Given the description of an element on the screen output the (x, y) to click on. 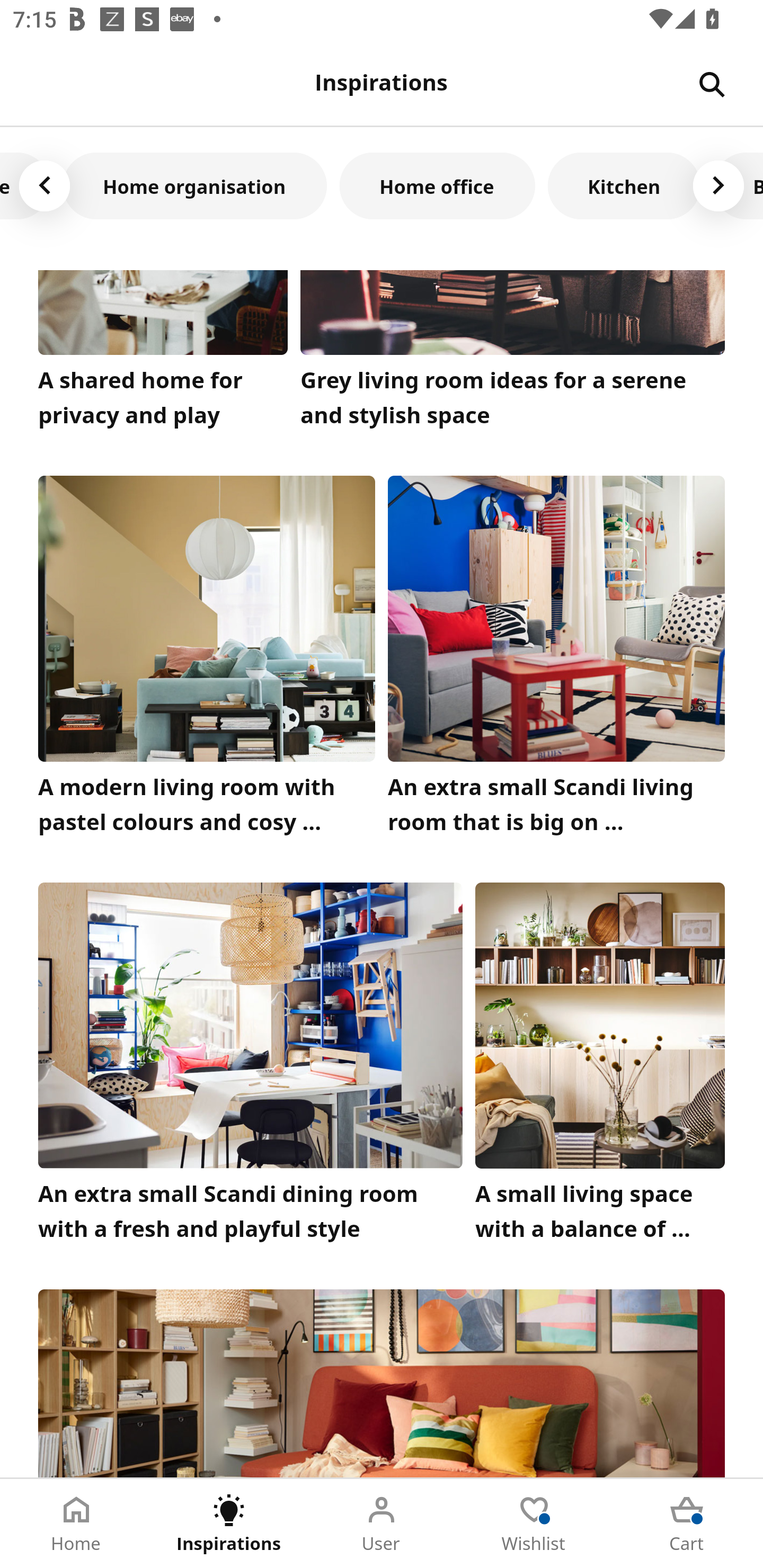
Home organisation (194, 185)
Home office (436, 185)
Kitchen (623, 185)
A shared home for privacy and play (162, 353)
A modern living room with an element of suprise (381, 1382)
Home
Tab 1 of 5 (76, 1522)
Inspirations
Tab 2 of 5 (228, 1522)
User
Tab 3 of 5 (381, 1522)
Wishlist
Tab 4 of 5 (533, 1522)
Cart
Tab 5 of 5 (686, 1522)
